Given the description of an element on the screen output the (x, y) to click on. 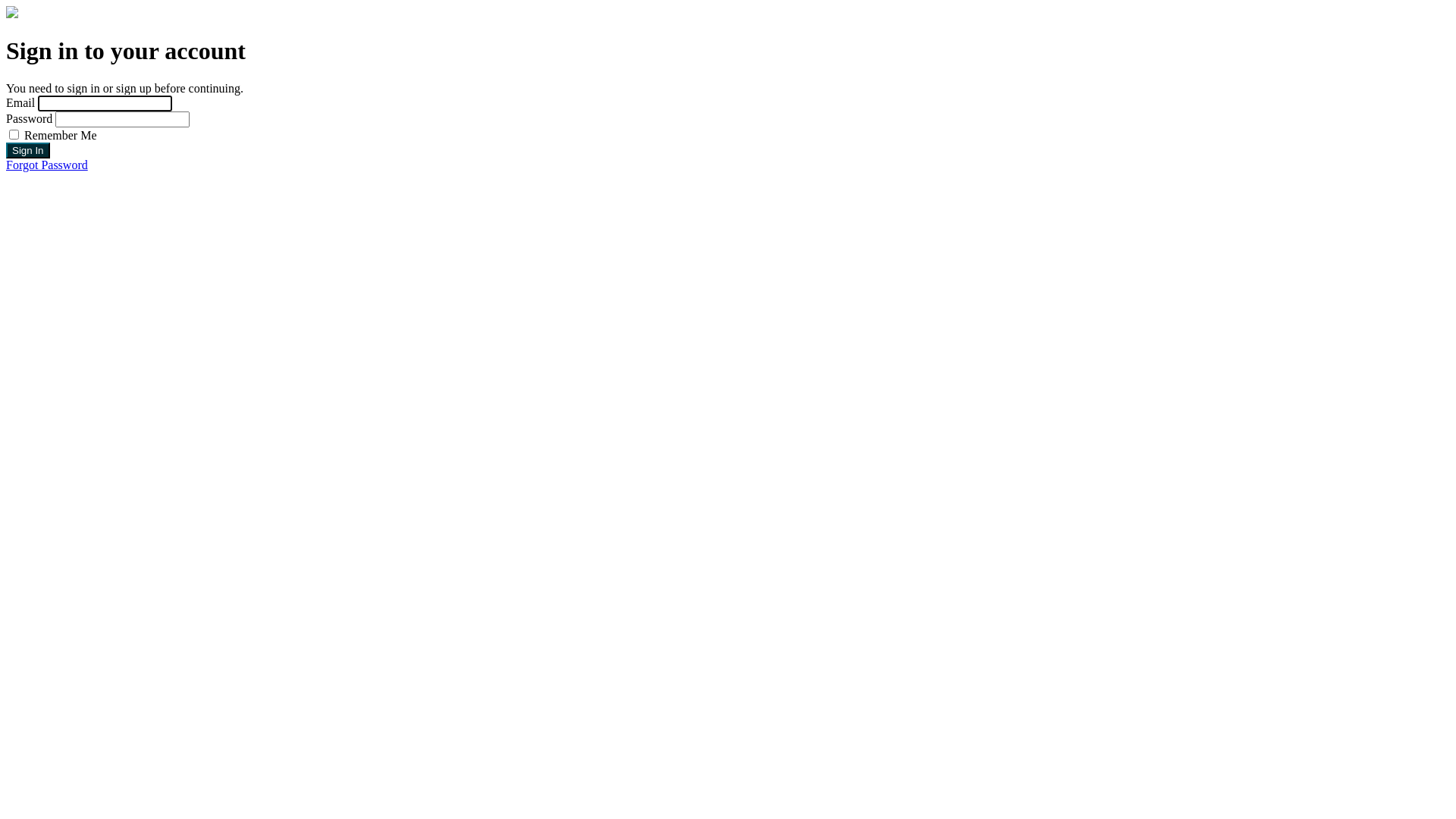
Sign In Element type: text (28, 150)
Forgot Password Element type: text (46, 164)
